Given the description of an element on the screen output the (x, y) to click on. 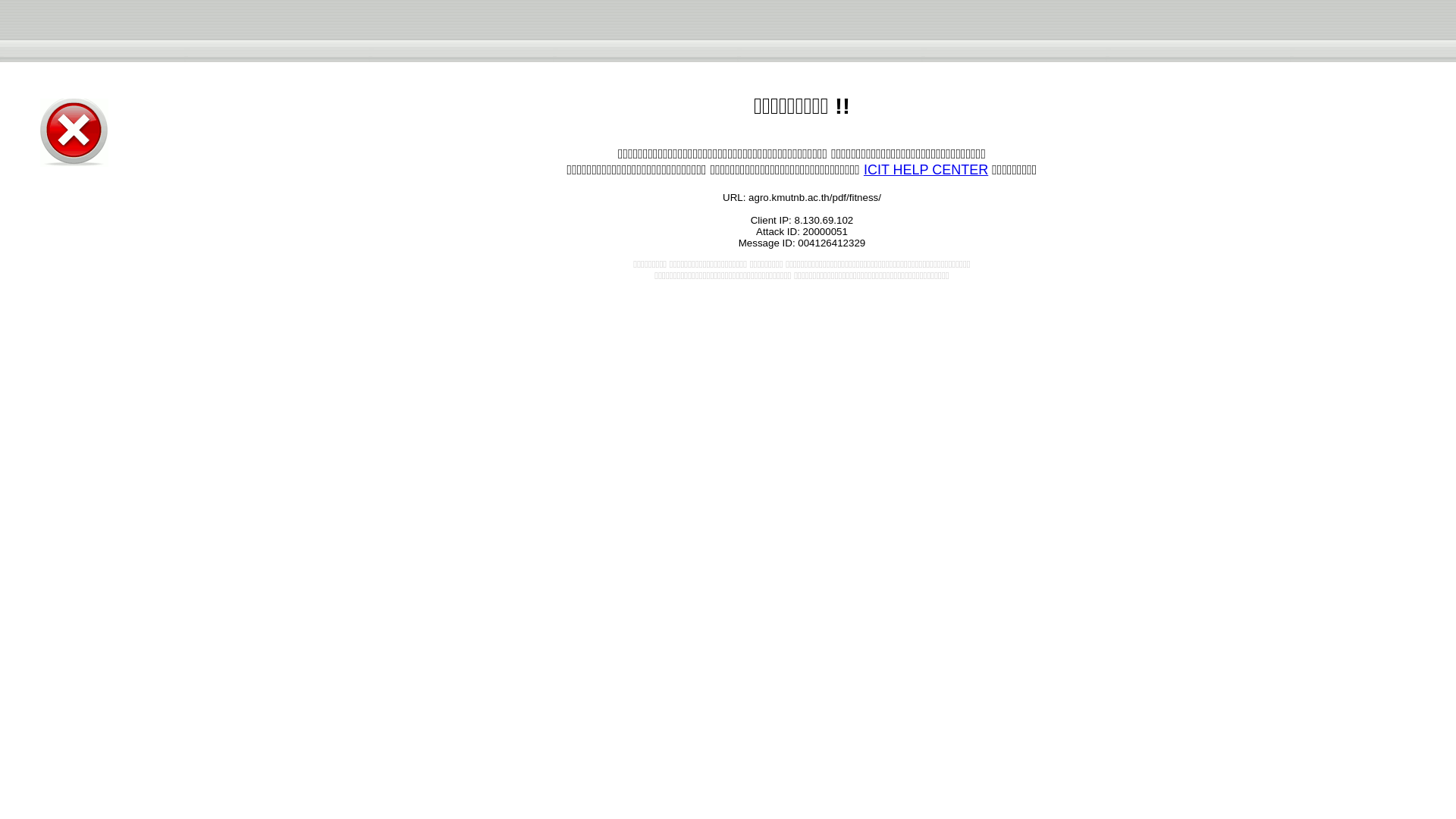
ICIT HELP CENTER (925, 169)
